Given the description of an element on the screen output the (x, y) to click on. 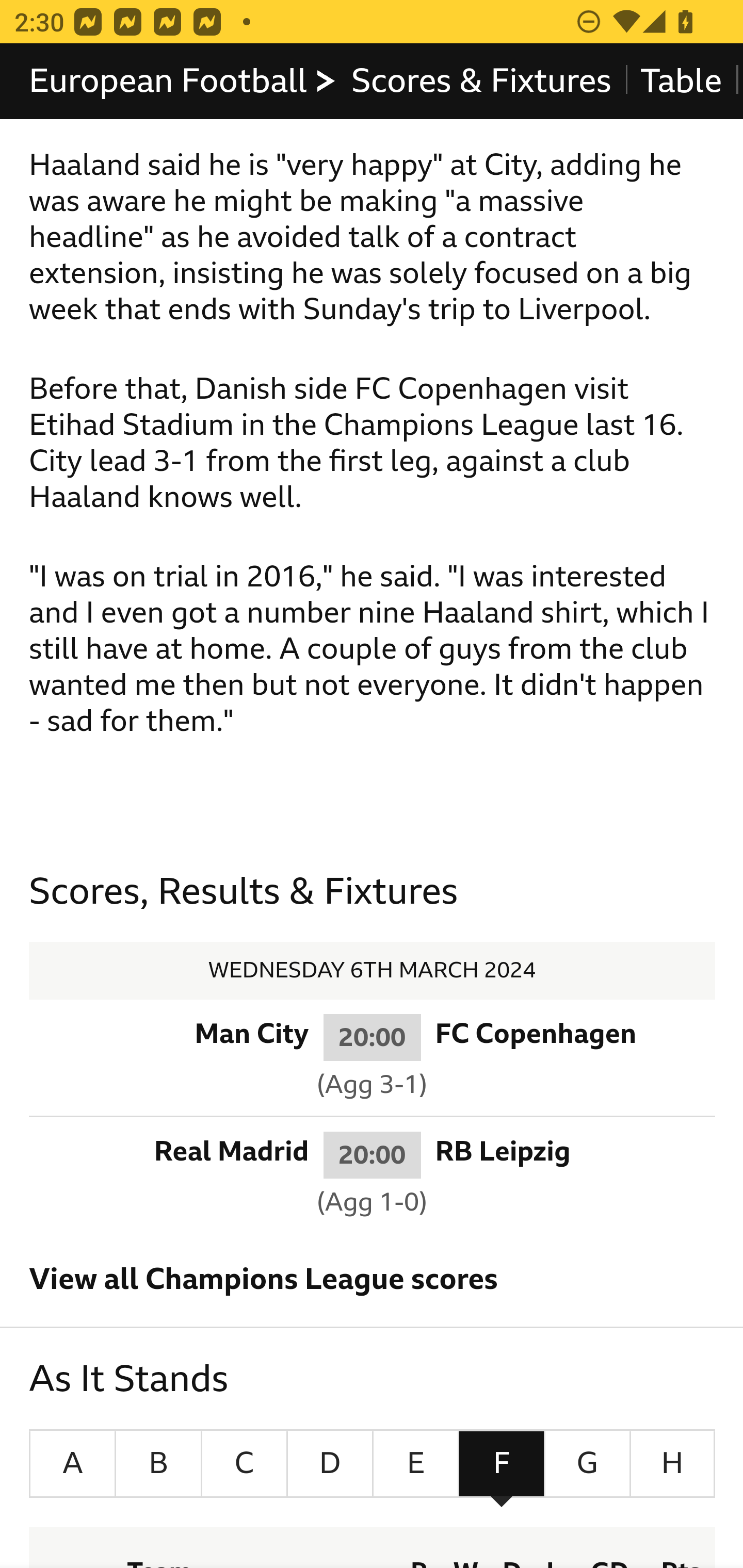
A (71, 1464)
B (158, 1464)
C (244, 1464)
D (329, 1464)
E (415, 1464)
F (501, 1464)
G (587, 1464)
H (672, 1464)
